Given the description of an element on the screen output the (x, y) to click on. 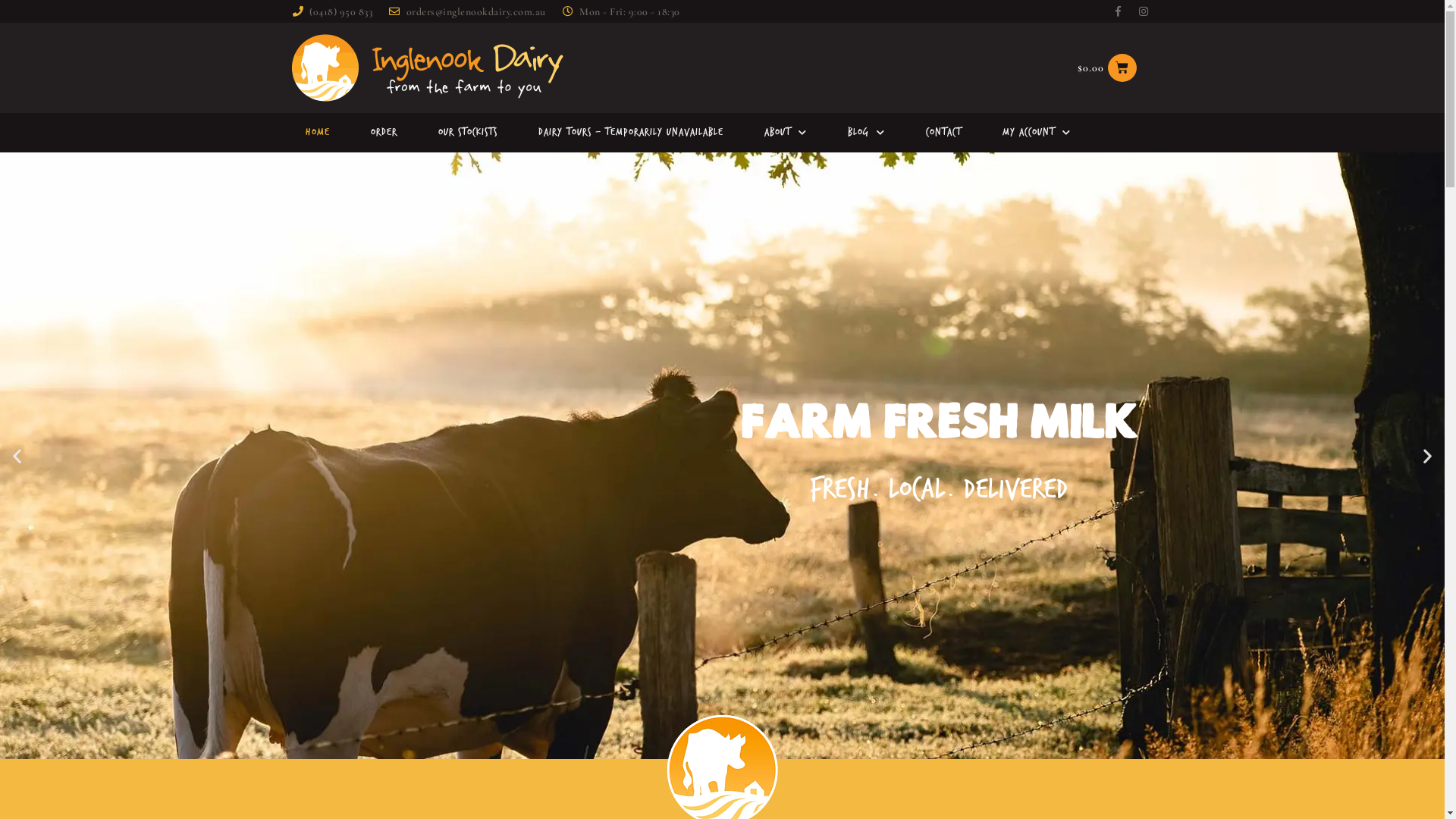
Order Element type: text (382, 132)
Home Element type: text (316, 132)
orders@inglenookdairy.com.au Element type: text (466, 10)
Blog Element type: text (866, 132)
(0418) 950 833 Element type: text (330, 10)
logo-retina Element type: hover (426, 67)
My Account Element type: text (1036, 132)
About Element type: text (785, 132)
$0.00 Element type: text (1106, 67)
Our Stockists Element type: text (467, 132)
Contact Element type: text (942, 132)
